Given the description of an element on the screen output the (x, y) to click on. 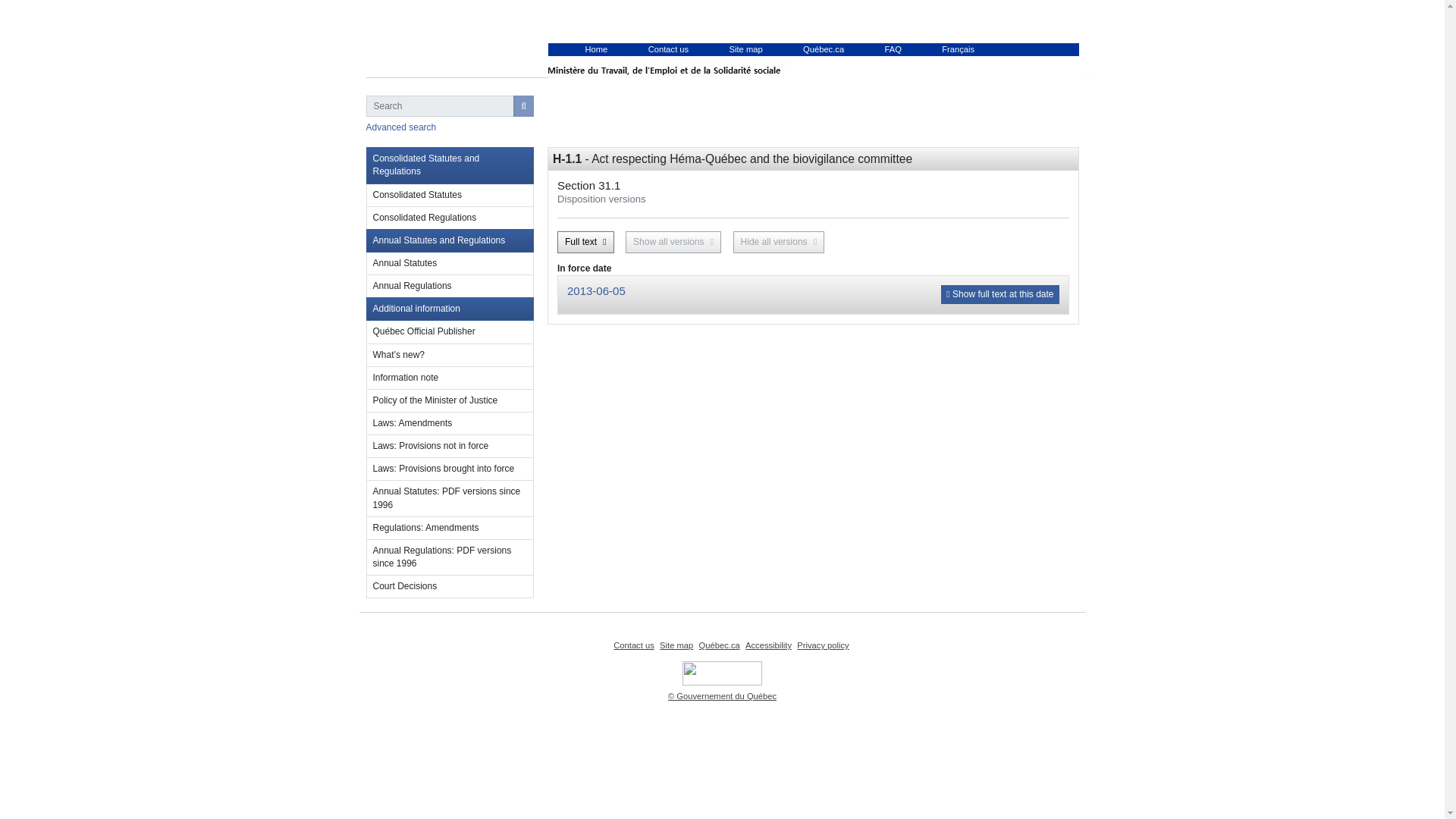
Regulations: Amendments (449, 527)
Information note (449, 377)
Full text (585, 241)
Court Decisions (449, 586)
Home (596, 49)
Contact us (633, 645)
FAQ (892, 49)
Additional information (449, 309)
Laws: Provisions brought into force (449, 468)
Laws: Amendments (449, 423)
Home (641, 116)
Site map (676, 645)
Laws: Provisions not in force (449, 445)
Displays the full text of the document (585, 241)
Show all versions (673, 241)
